Given the description of an element on the screen output the (x, y) to click on. 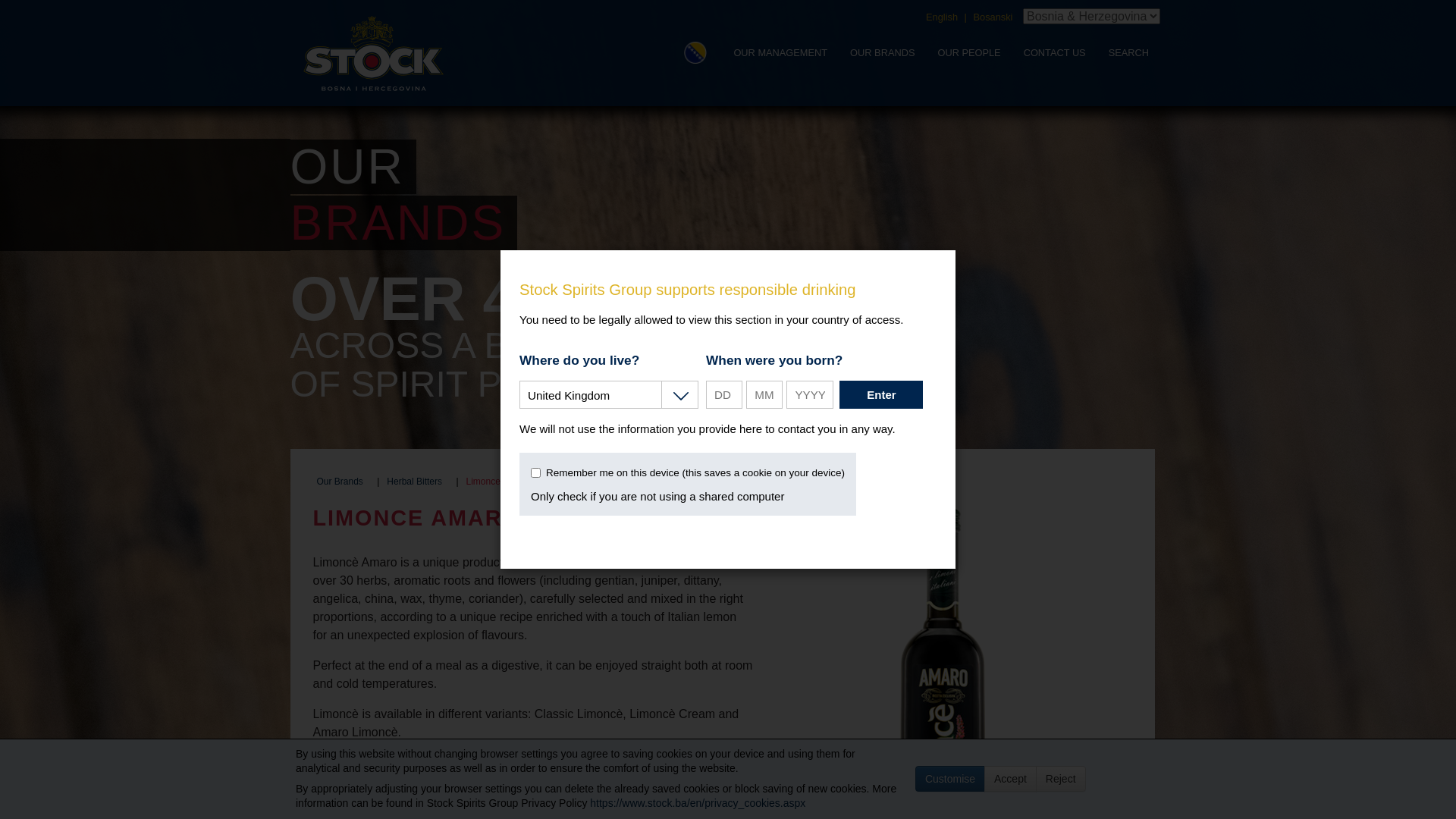
Herbal Bitters Element type: text (414, 481)
Customise Element type: text (950, 778)
https://www.stock.ba/en/privacy_cookies.aspx Element type: text (697, 803)
OUR BRANDS Element type: text (881, 52)
Accept Element type: text (1010, 778)
CONTACT US Element type: text (1054, 52)
Reject Element type: text (1060, 778)
SEARCH Element type: text (1128, 52)
Skip to main content Element type: text (21, 21)
OUR MANAGEMENT Element type: text (779, 52)
Enter Element type: text (880, 394)
English Element type: text (941, 16)
OUR PEOPLE Element type: text (968, 52)
Bosanski Element type: text (993, 16)
Our Brands Element type: text (339, 481)
